Given the description of an element on the screen output the (x, y) to click on. 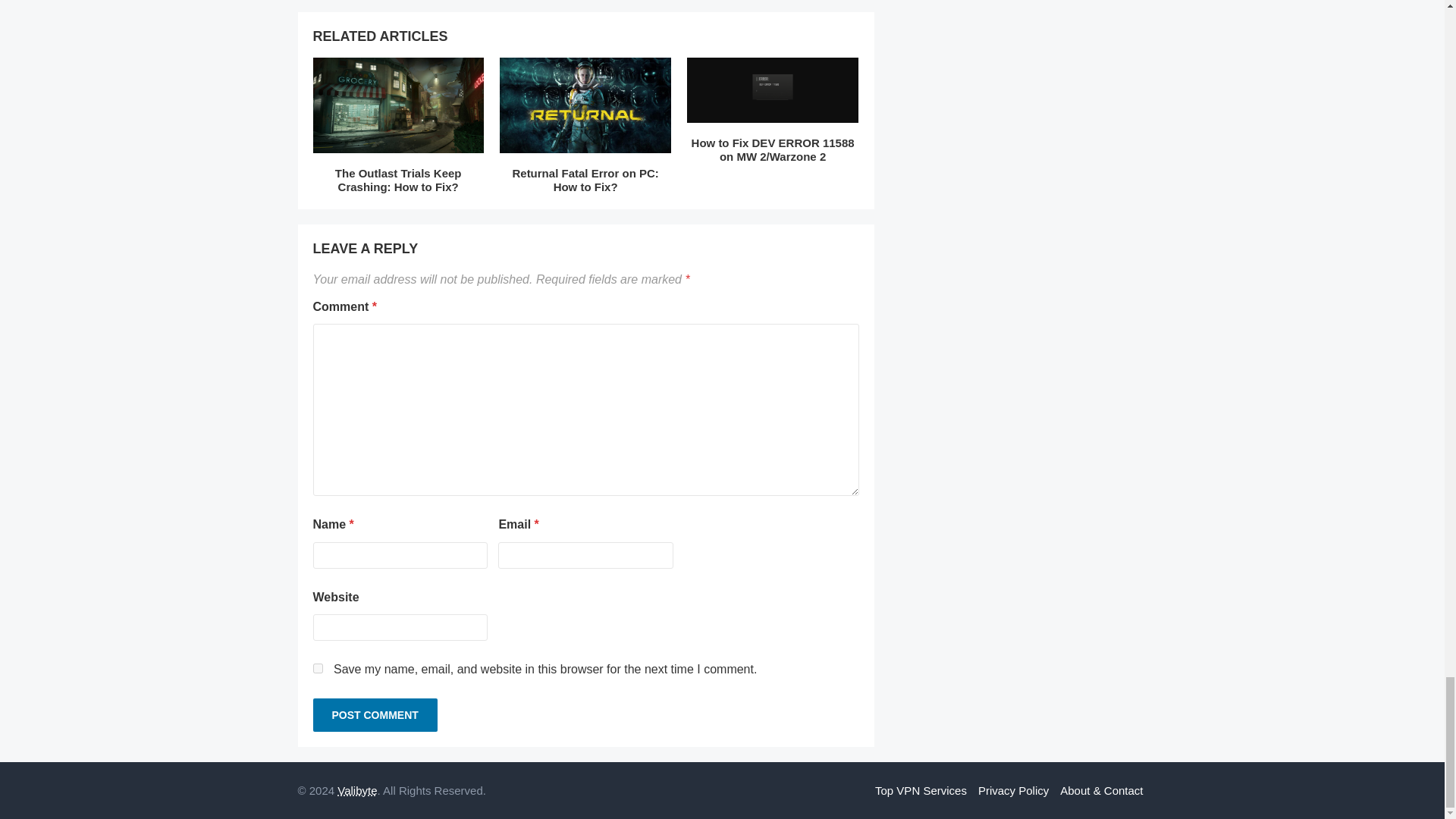
Post Comment (374, 715)
Returnal Fatal Error on PC: How to Fix? (584, 107)
The Outlast Trials Keep Crashing: How to Fix? (398, 107)
Returnal Fatal Error on PC: How to Fix? (585, 180)
The Outlast Trials Keep Crashing: How to Fix? (397, 180)
Valibyte (357, 789)
yes (317, 668)
Post Comment (374, 715)
The Outlast Trials Keep Crashing: How to Fix? (397, 180)
Returnal Fatal Error on PC: How to Fix? (585, 180)
